Given the description of an element on the screen output the (x, y) to click on. 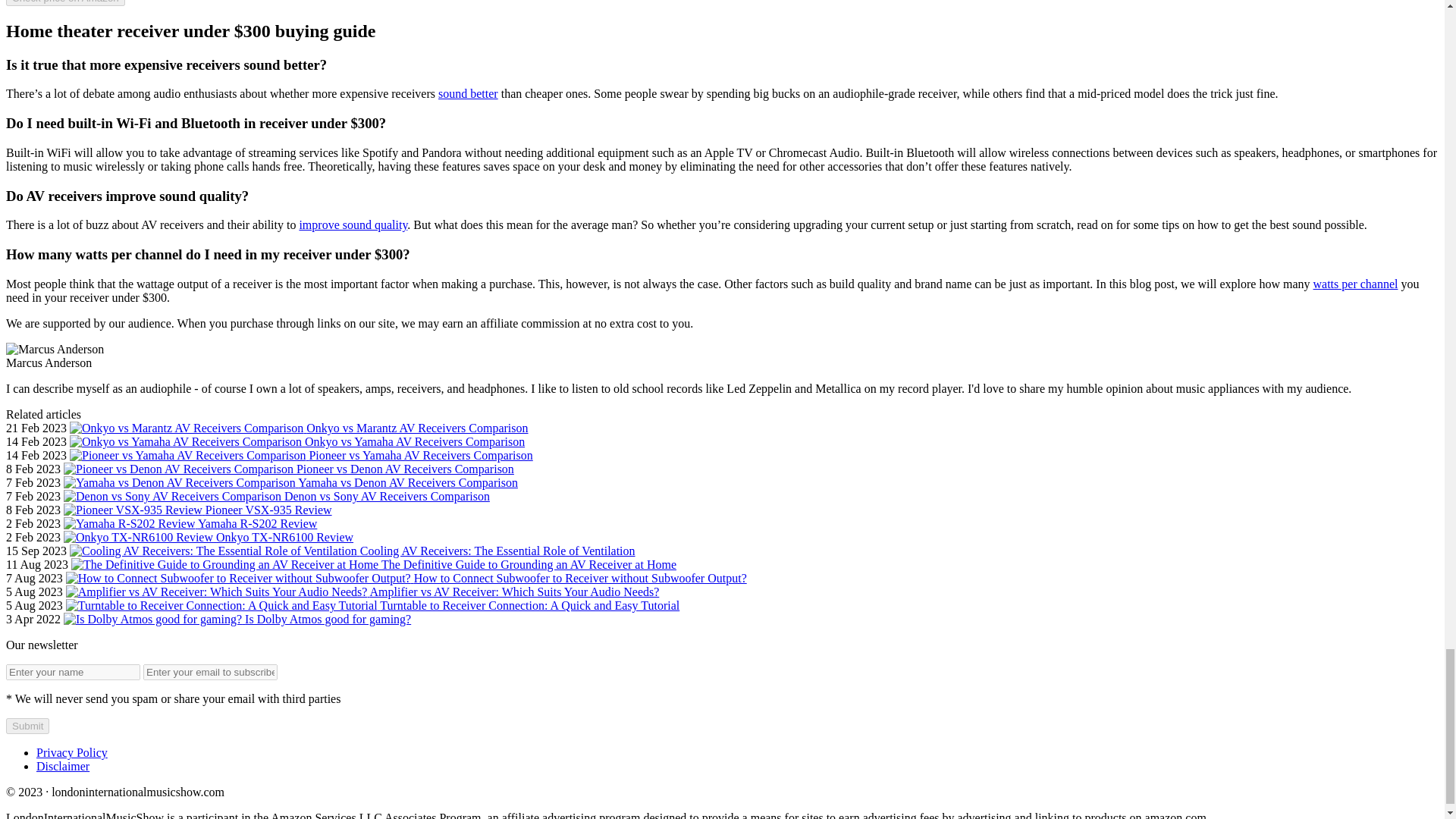
Do AV receivers improve sound quality (352, 224)
Pioneer vs Yamaha AV Receivers Comparison (300, 454)
Difference between a cheap and an expensive receiver (467, 92)
Pioneer vs Denon AV Receivers Comparison (288, 468)
improve sound quality (352, 224)
Check price on Amazon (65, 2)
Pioneer vs Yamaha AV Receivers Comparison (300, 454)
Pioneer VSX-935 Review (197, 509)
Onkyo vs Marantz AV Receivers Comparison (298, 427)
watts per channel (1355, 283)
